Given the description of an element on the screen output the (x, y) to click on. 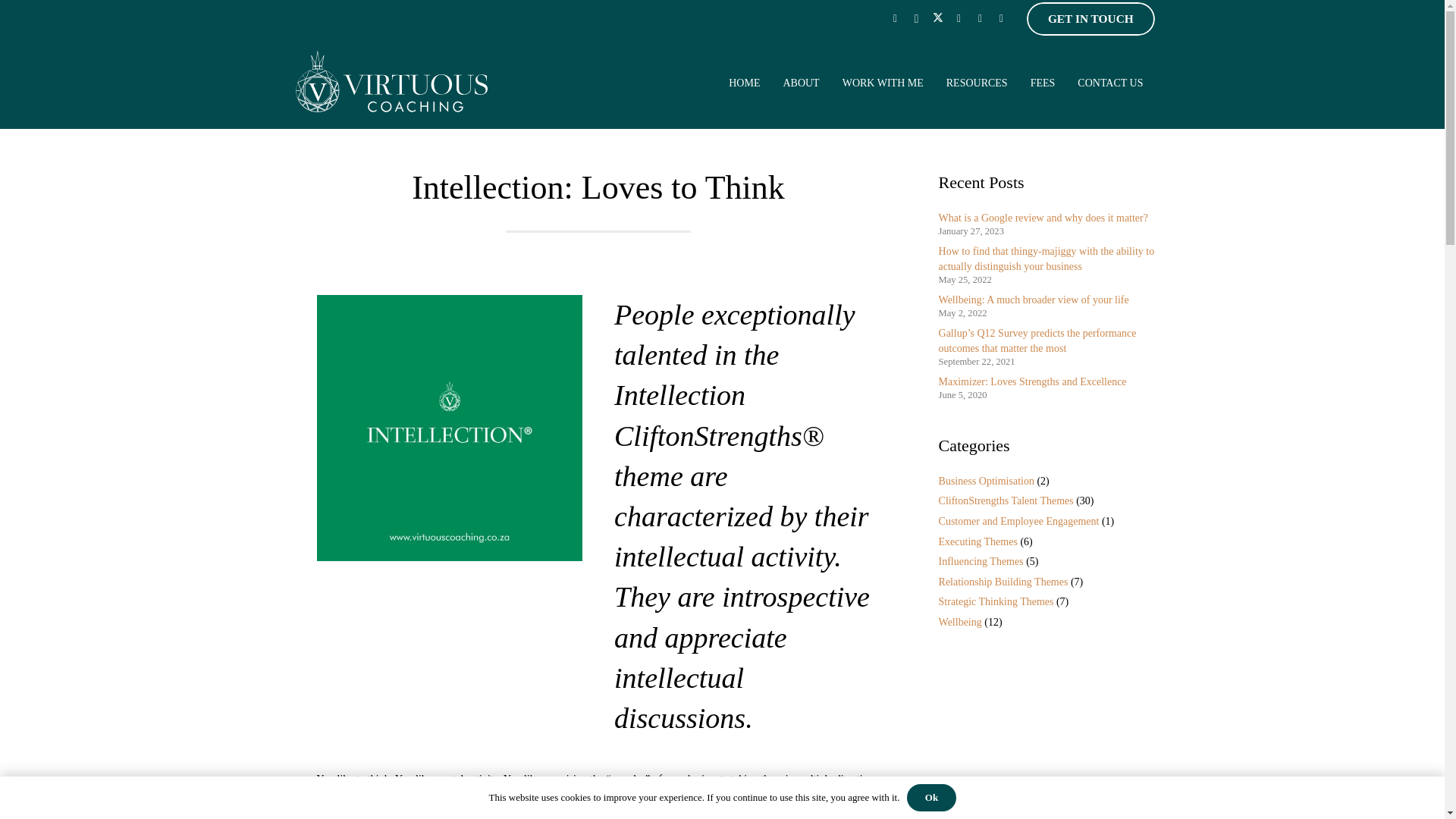
Twitter (938, 18)
CONTACT US (1109, 82)
Instagram (916, 18)
Google (1001, 18)
WORK WITH ME (882, 82)
Facebook (895, 18)
LinkedIn (959, 18)
Wellbeing: A much broader view of your life (1034, 299)
What is a Google review and why does it matter? (1043, 217)
